Given the description of an element on the screen output the (x, y) to click on. 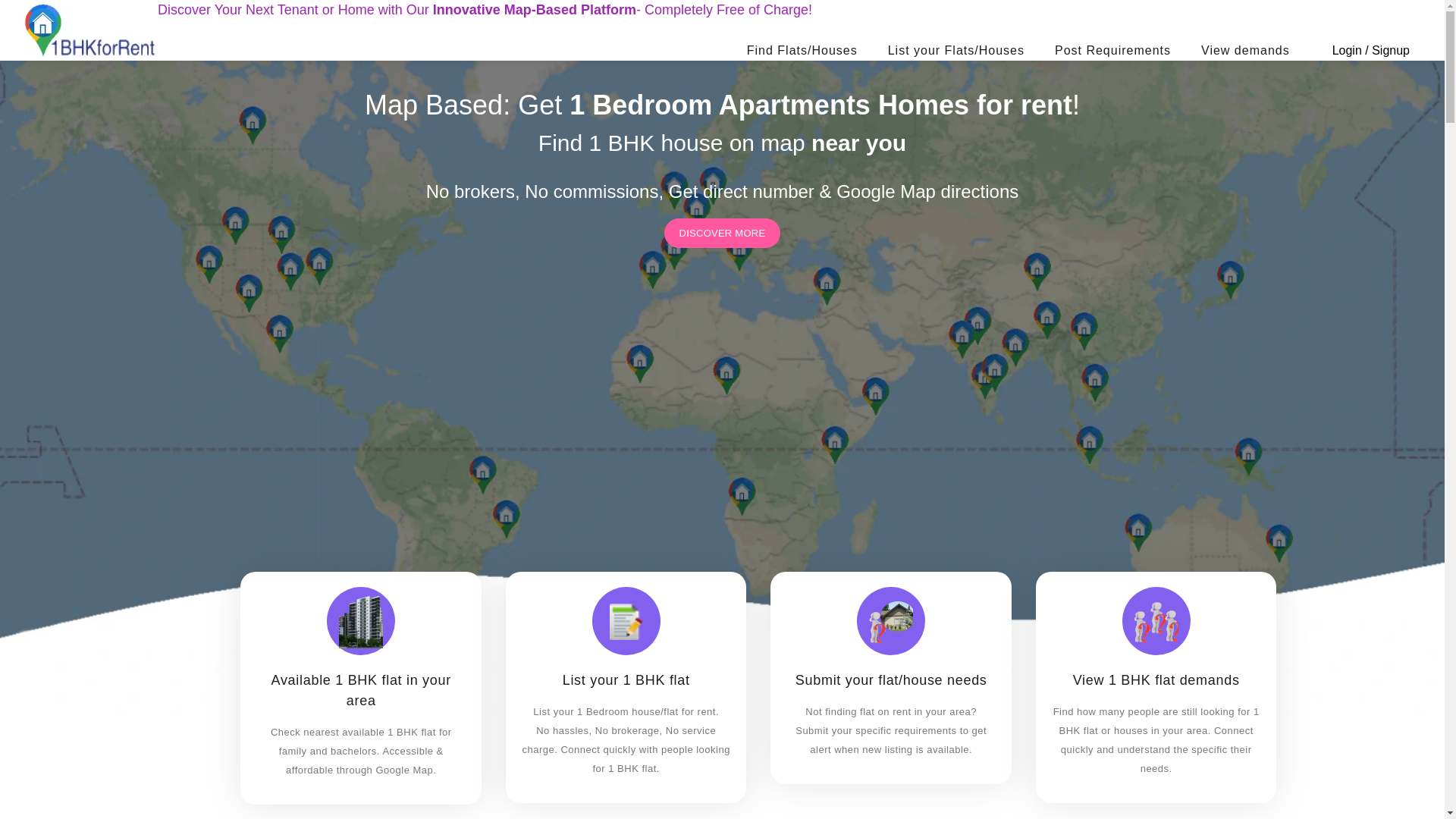
Login / Signup Element type: text (1370, 50)
List your Flats/Houses Element type: text (956, 50)
DISCOVER MORE Element type: text (722, 232)
View demands Element type: text (1245, 50)
Post Requirements Element type: text (1112, 50)
Find Flats/Houses Element type: text (801, 50)
